Given the description of an element on the screen output the (x, y) to click on. 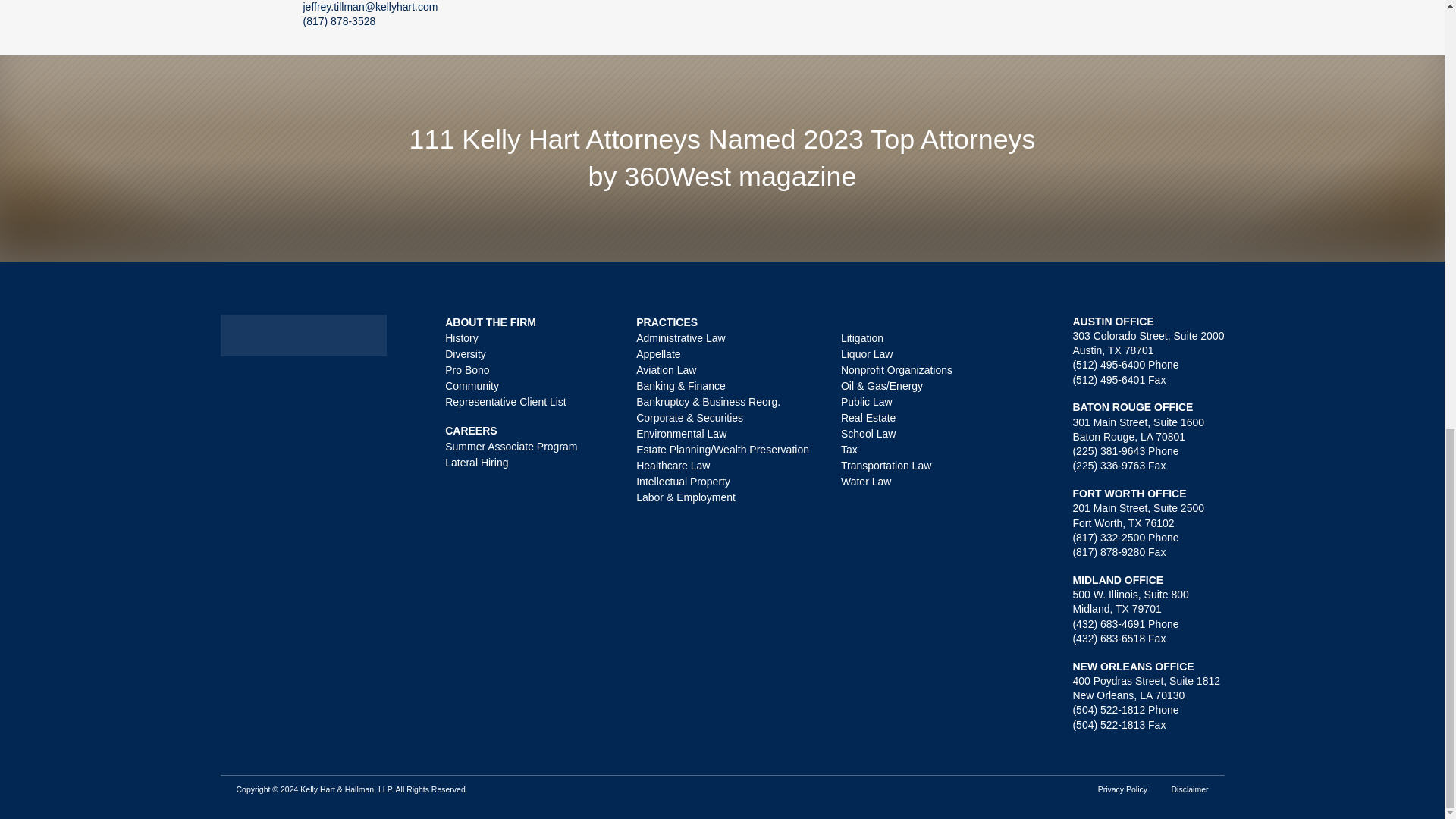
Representative Client List (505, 400)
History (462, 337)
Pro Bono (467, 369)
ABOUT THE FIRM (490, 322)
Community (472, 386)
Diversity (465, 354)
